Given the description of an element on the screen output the (x, y) to click on. 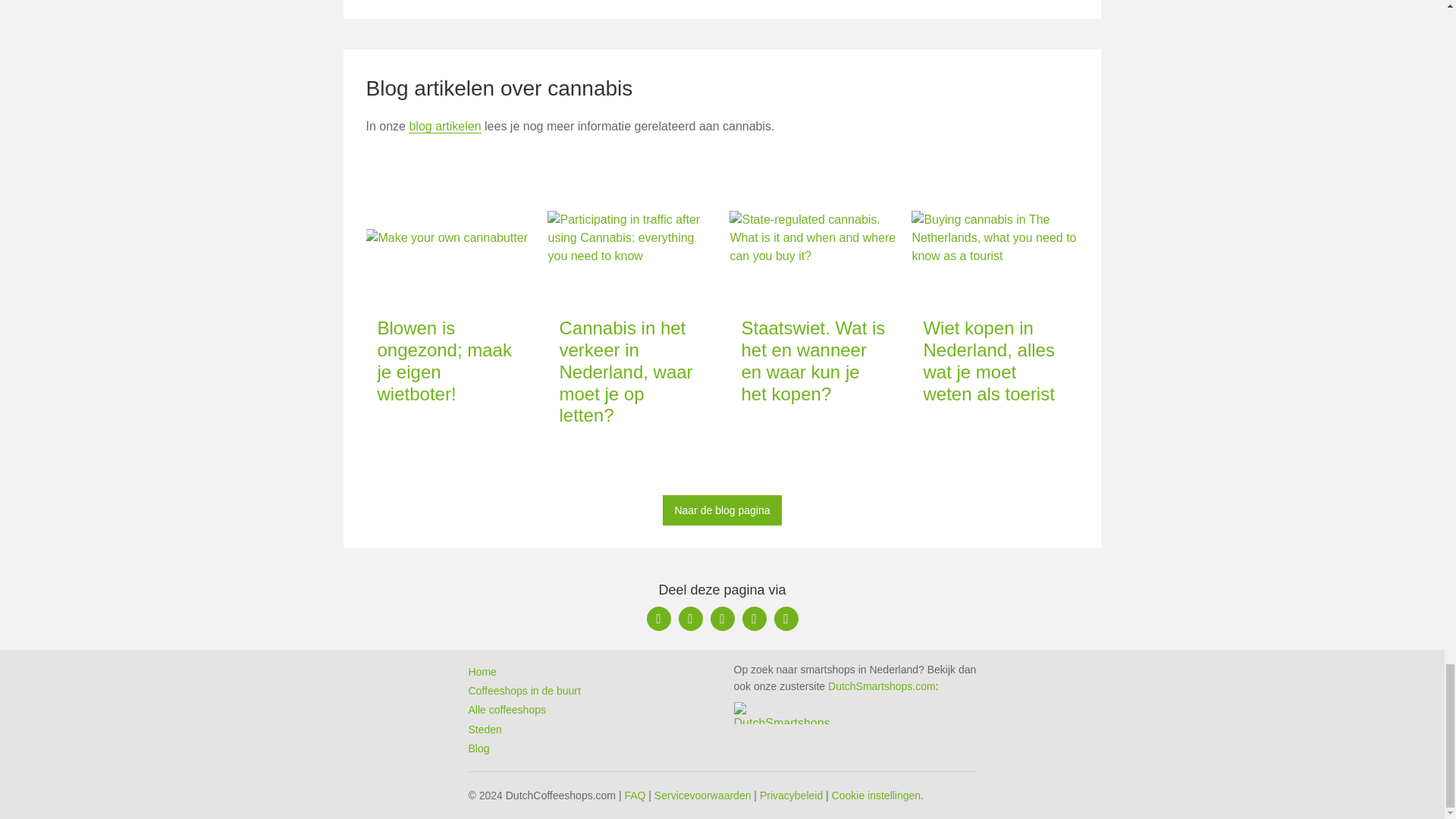
Home (482, 671)
Alle coffeeshops (507, 709)
blog artikelen (444, 126)
Wiet kopen in Nederland, alles wat je moet weten als toerist (988, 360)
Blog (478, 748)
Steden (485, 729)
Naar de blog pagina (721, 510)
Staatswiet. Wat is het en wanneer en waar kun je het kopen? (813, 360)
Coffeeshops in de buurt (524, 690)
